Given the description of an element on the screen output the (x, y) to click on. 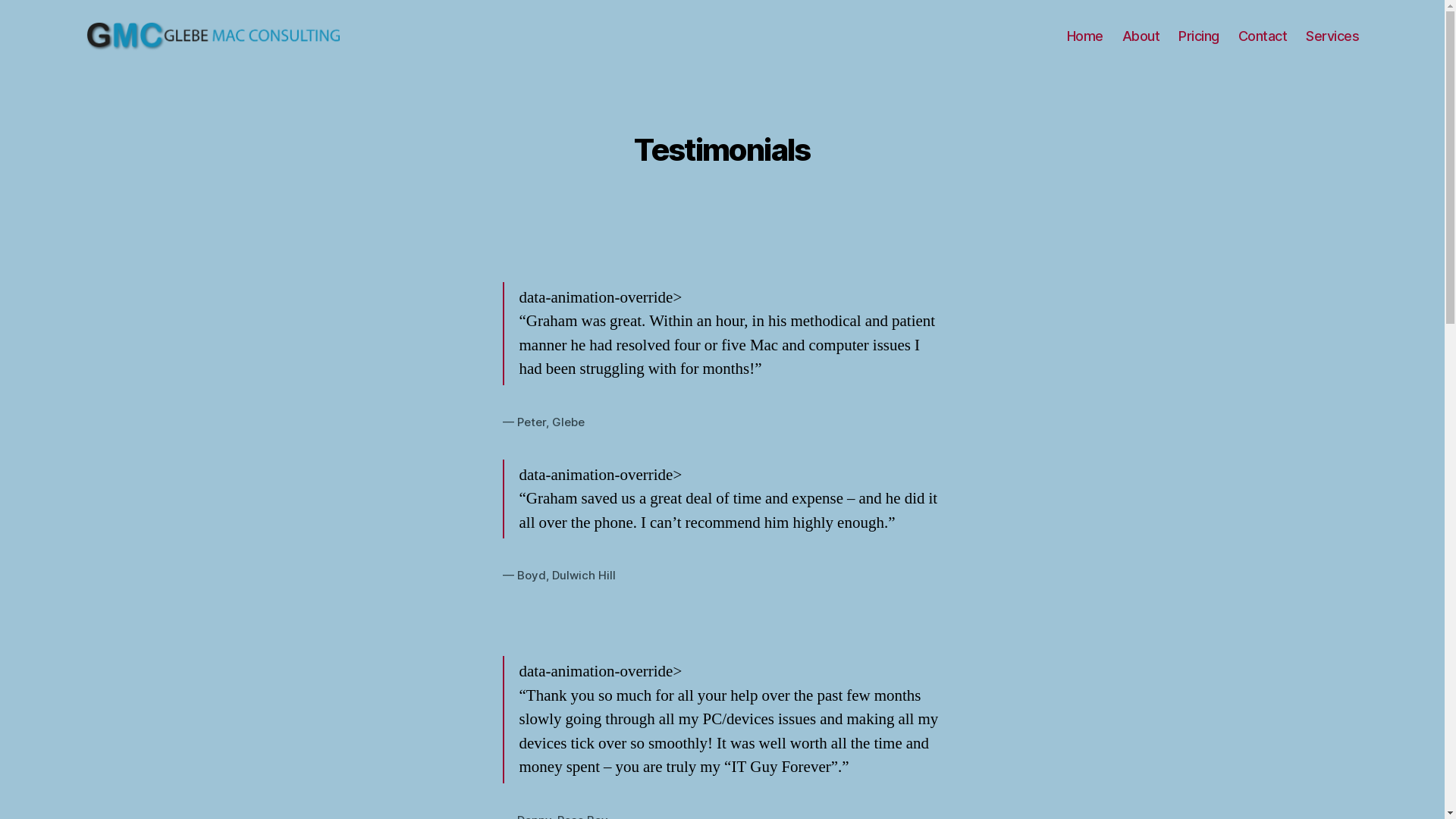
About Element type: text (1141, 36)
Services Element type: text (1331, 36)
Home Element type: text (1084, 36)
Contact Element type: text (1262, 36)
Pricing Element type: text (1198, 36)
